Given the description of an element on the screen output the (x, y) to click on. 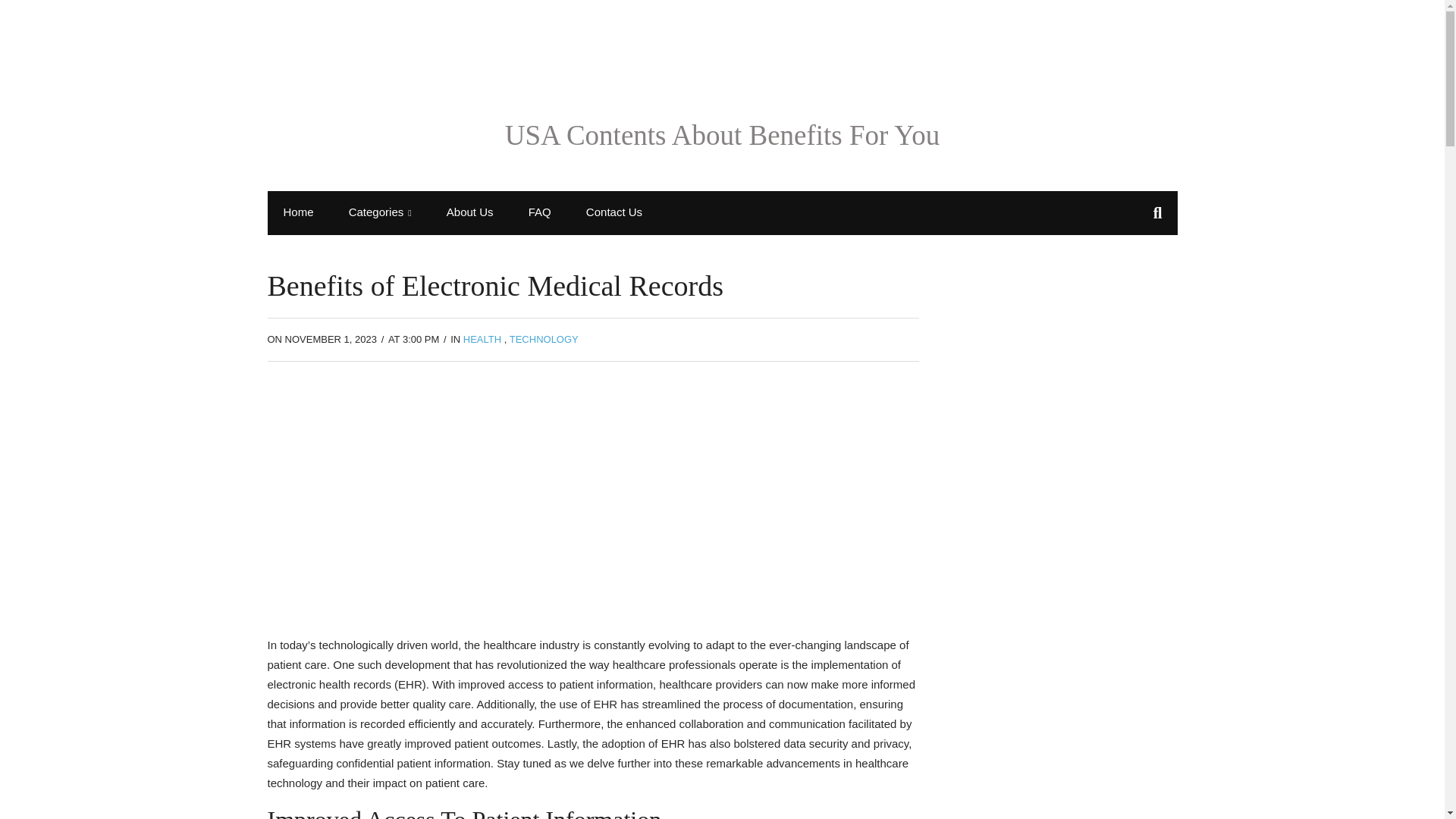
FAQ (539, 211)
Contact Us (614, 211)
USA Contents about benefits for you (722, 134)
USA Contents About Benefits For You (722, 134)
Benefits of EMR (478, 495)
HEALTH (481, 338)
Search (28, 15)
About Us (469, 211)
Home (297, 211)
TECHNOLOGY (543, 338)
